Given the description of an element on the screen output the (x, y) to click on. 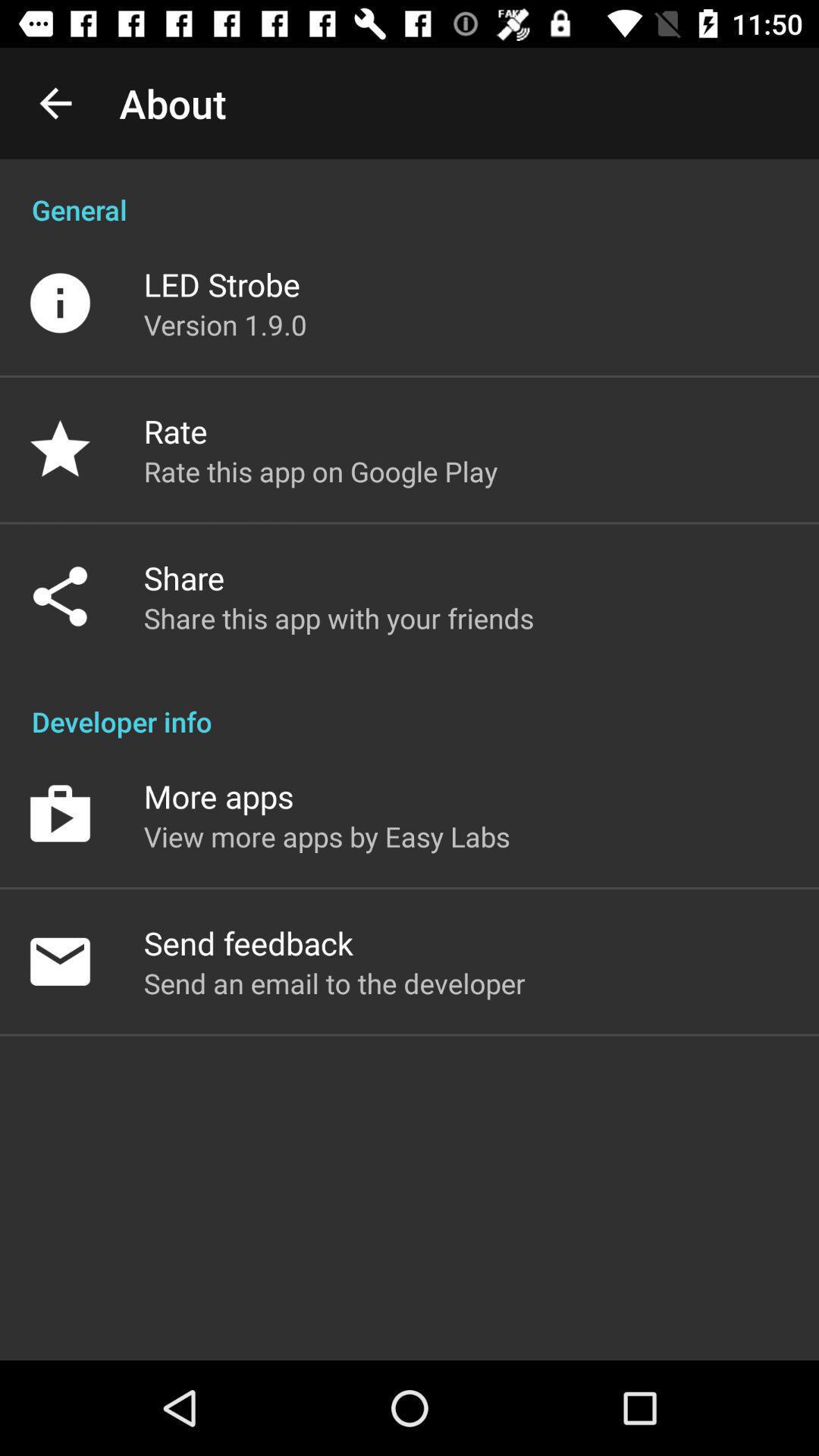
select app to the left of the about (55, 103)
